Given the description of an element on the screen output the (x, y) to click on. 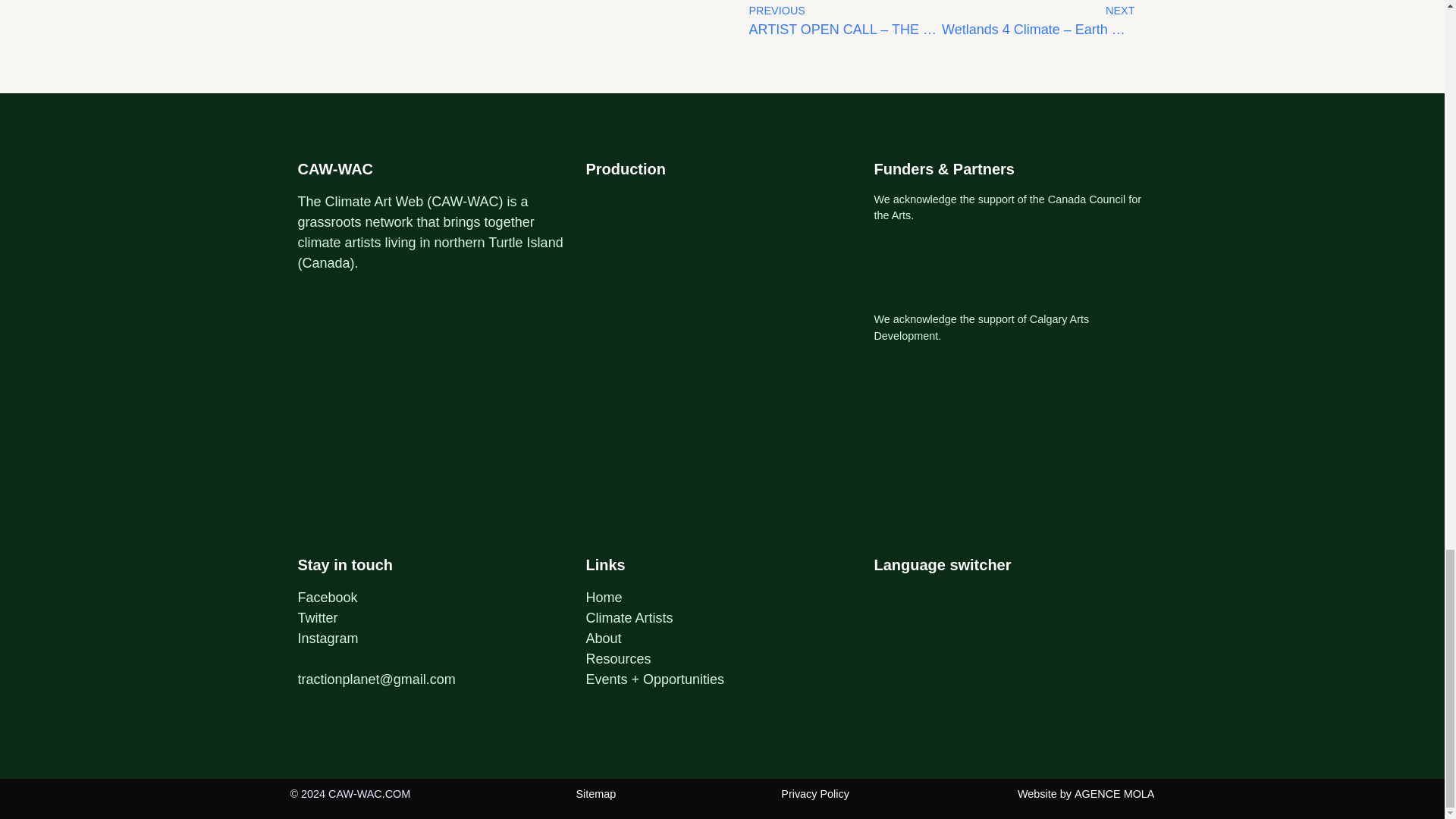
AGENCE MOLA (1114, 793)
Instagram (327, 638)
Sitemap (595, 793)
About (603, 638)
Resources (617, 658)
Privacy Policy (814, 793)
Twitter (317, 617)
Climate Artists (628, 617)
Home (603, 597)
Facebook (326, 597)
